Given the description of an element on the screen output the (x, y) to click on. 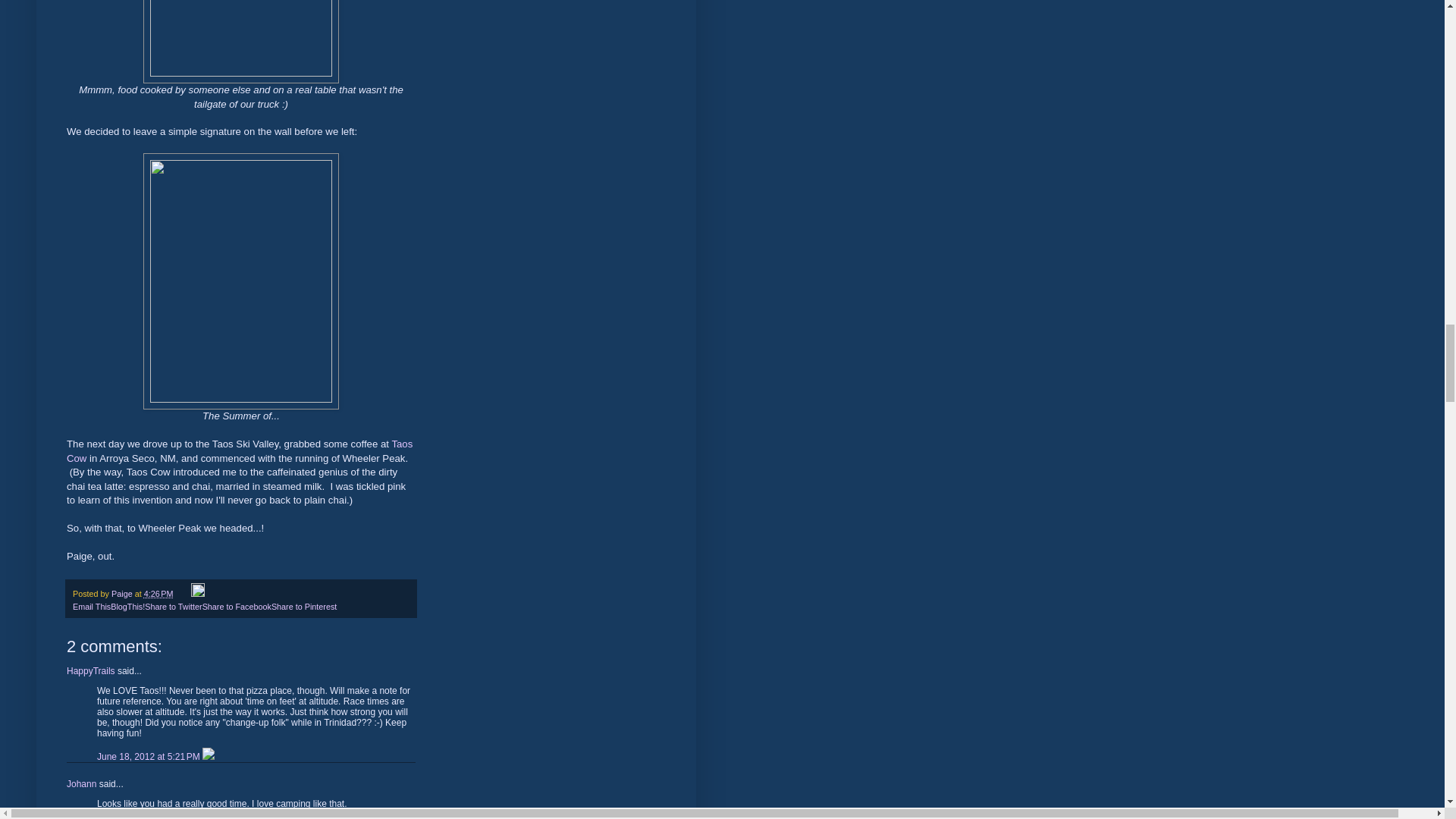
Johann (81, 783)
Edit Post (197, 593)
Delete Comment (208, 756)
Email This (91, 605)
Paige (123, 593)
Share to Pinterest (303, 605)
Taos Cow (239, 450)
BlogThis! (127, 605)
Email This (91, 605)
HappyTrails (90, 670)
Share to Twitter (173, 605)
permanent link (158, 593)
Share to Pinterest (303, 605)
BlogThis! (127, 605)
